Given the description of an element on the screen output the (x, y) to click on. 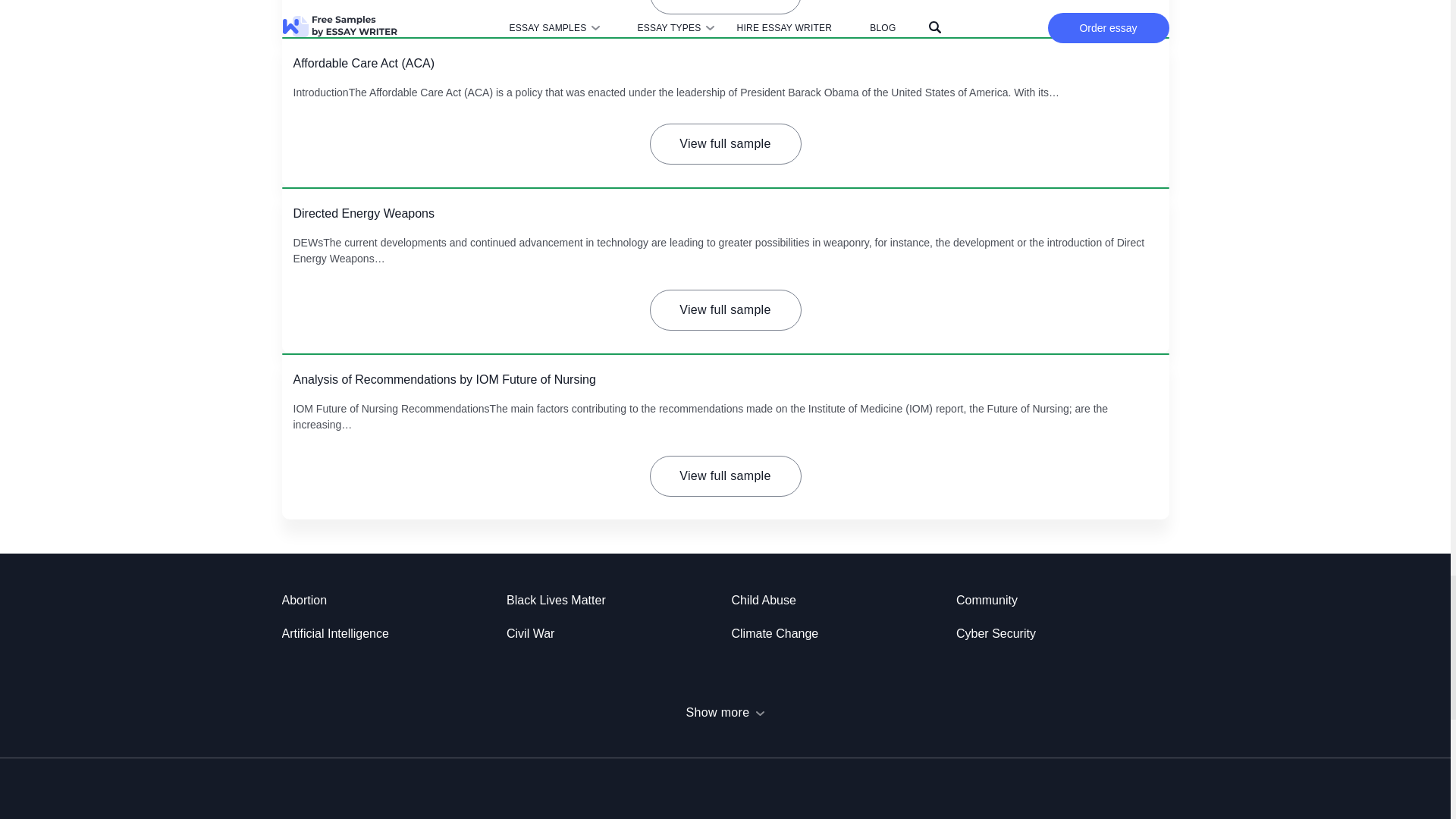
Analysis of Recommendations by IOM Future of Nursing (443, 379)
Directed Energy Weapons (362, 213)
